Given the description of an element on the screen output the (x, y) to click on. 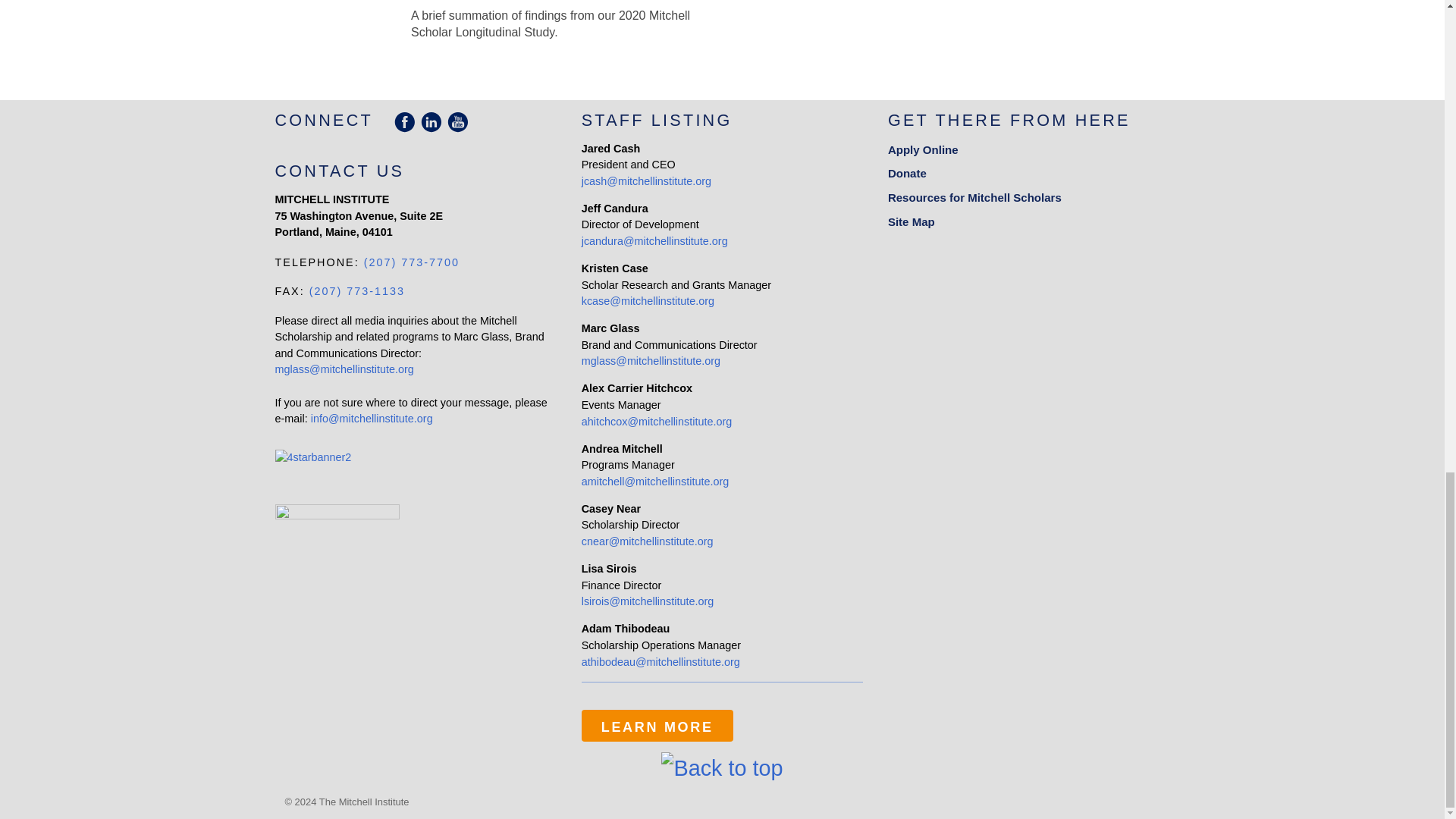
CONTACT US (339, 170)
